Given the description of an element on the screen output the (x, y) to click on. 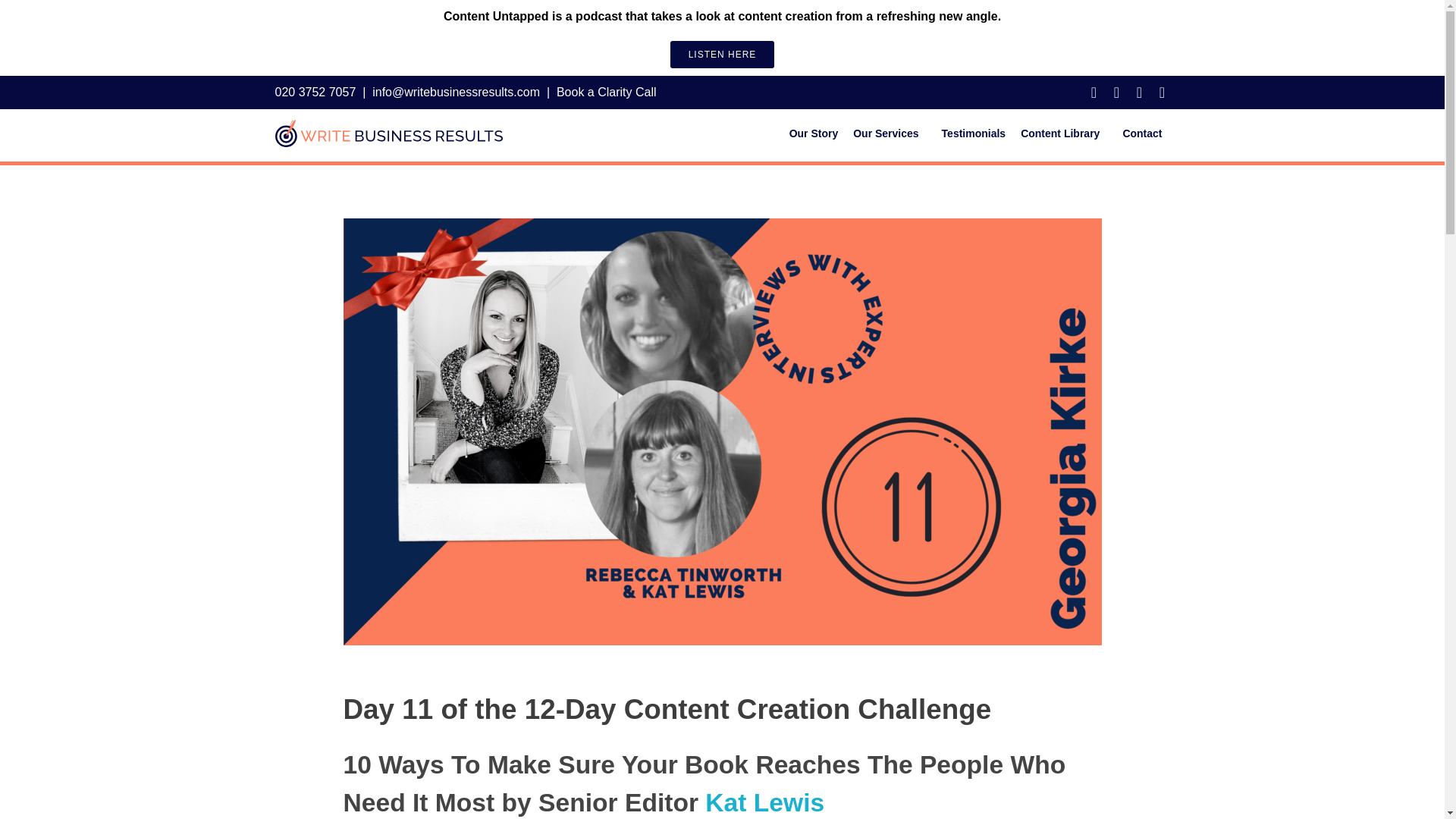
LISTEN HERE (721, 53)
020 3752 7057 (315, 91)
Our Services (889, 133)
Testimonials (973, 133)
Our Story (813, 133)
Content Library (1064, 133)
Book a Clarity Call (606, 91)
